Given the description of an element on the screen output the (x, y) to click on. 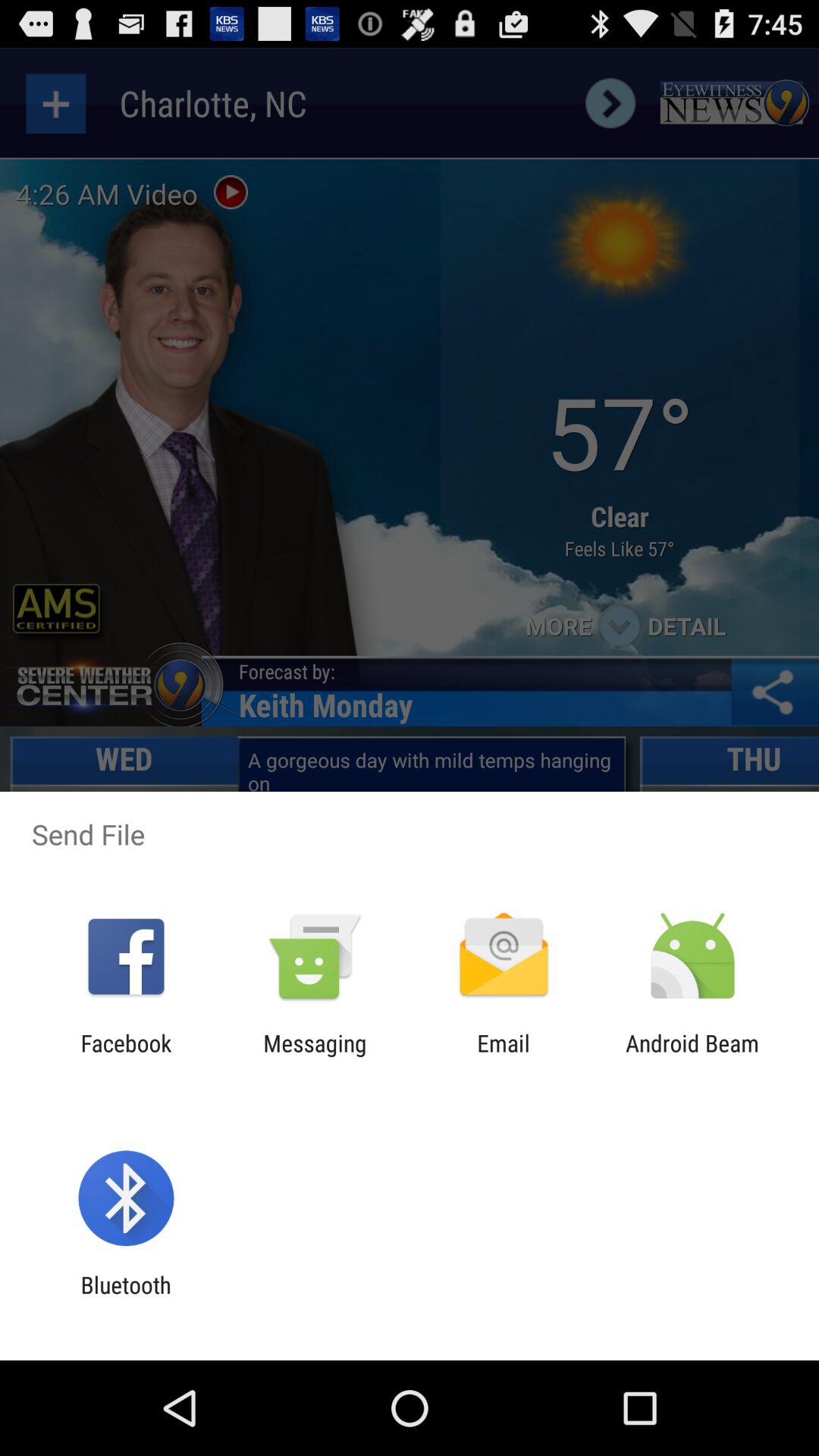
turn off the icon to the right of facebook (314, 1056)
